Given the description of an element on the screen output the (x, y) to click on. 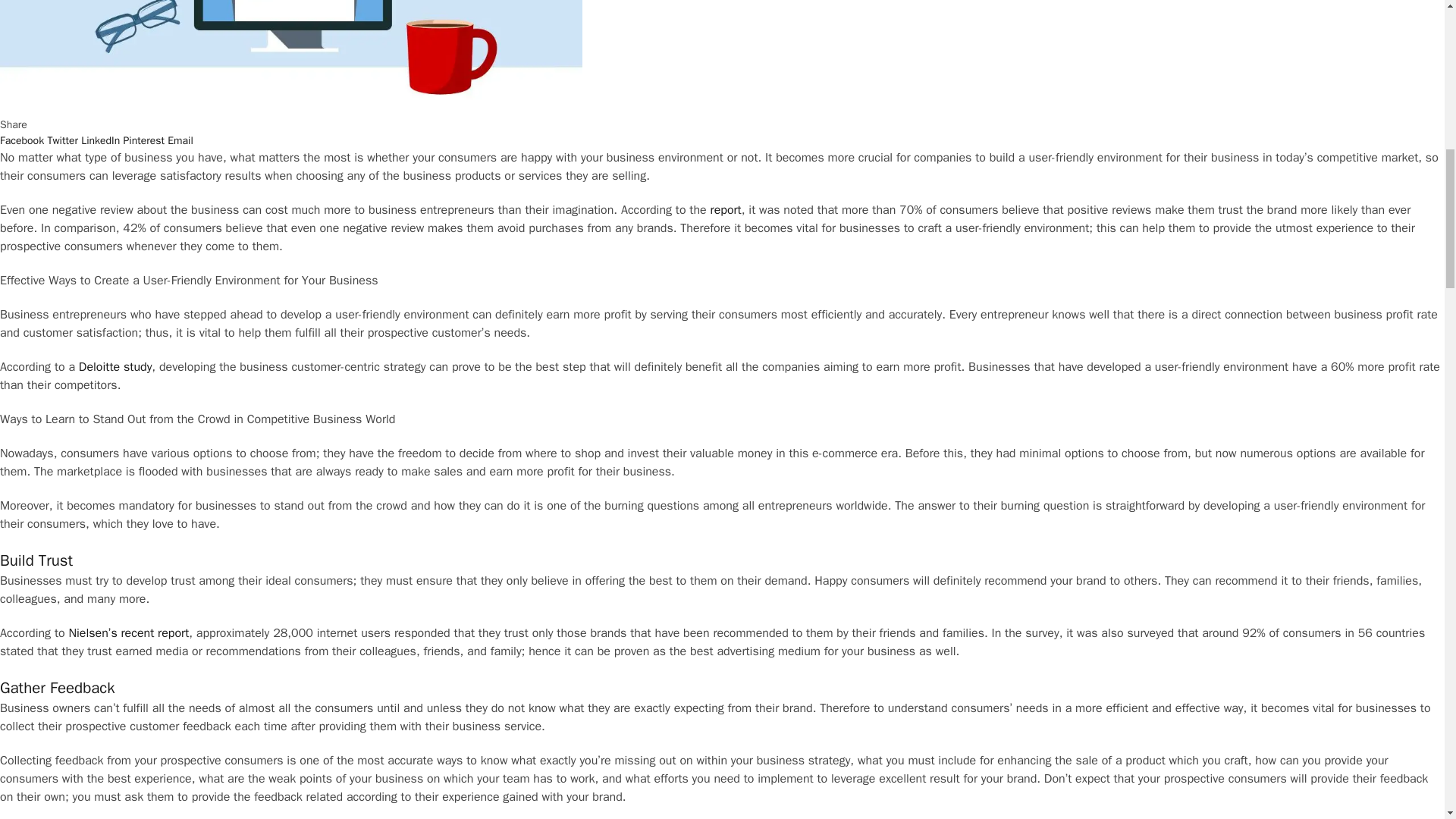
Facebook (21, 140)
Twitter (62, 140)
Twitter (62, 140)
LinkedIn (100, 140)
Facebook (21, 140)
